Given the description of an element on the screen output the (x, y) to click on. 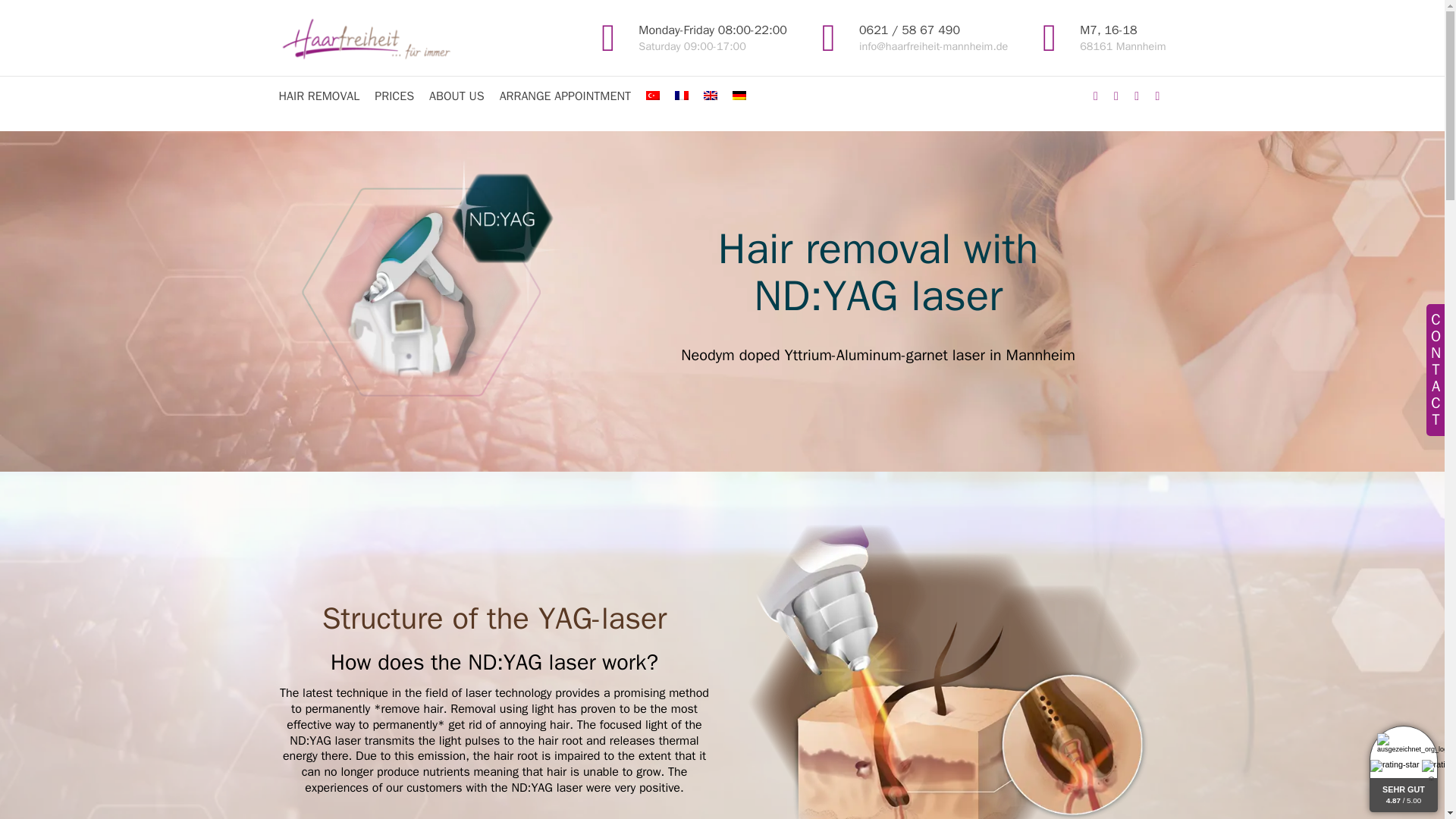
Youtube (1157, 96)
Facebook (1136, 96)
M7, 16-1868161 Mannheim (1123, 38)
Instagram (1123, 38)
Haarfreiheit Mannheim - dauerhafte Haarentfernung (1095, 96)
TikTok (373, 37)
M7, 16-1868161 Mannheim (1116, 96)
Haarfreiheit Mannheim - dauerhafte Haarentfernung (1049, 37)
